Given the description of an element on the screen output the (x, y) to click on. 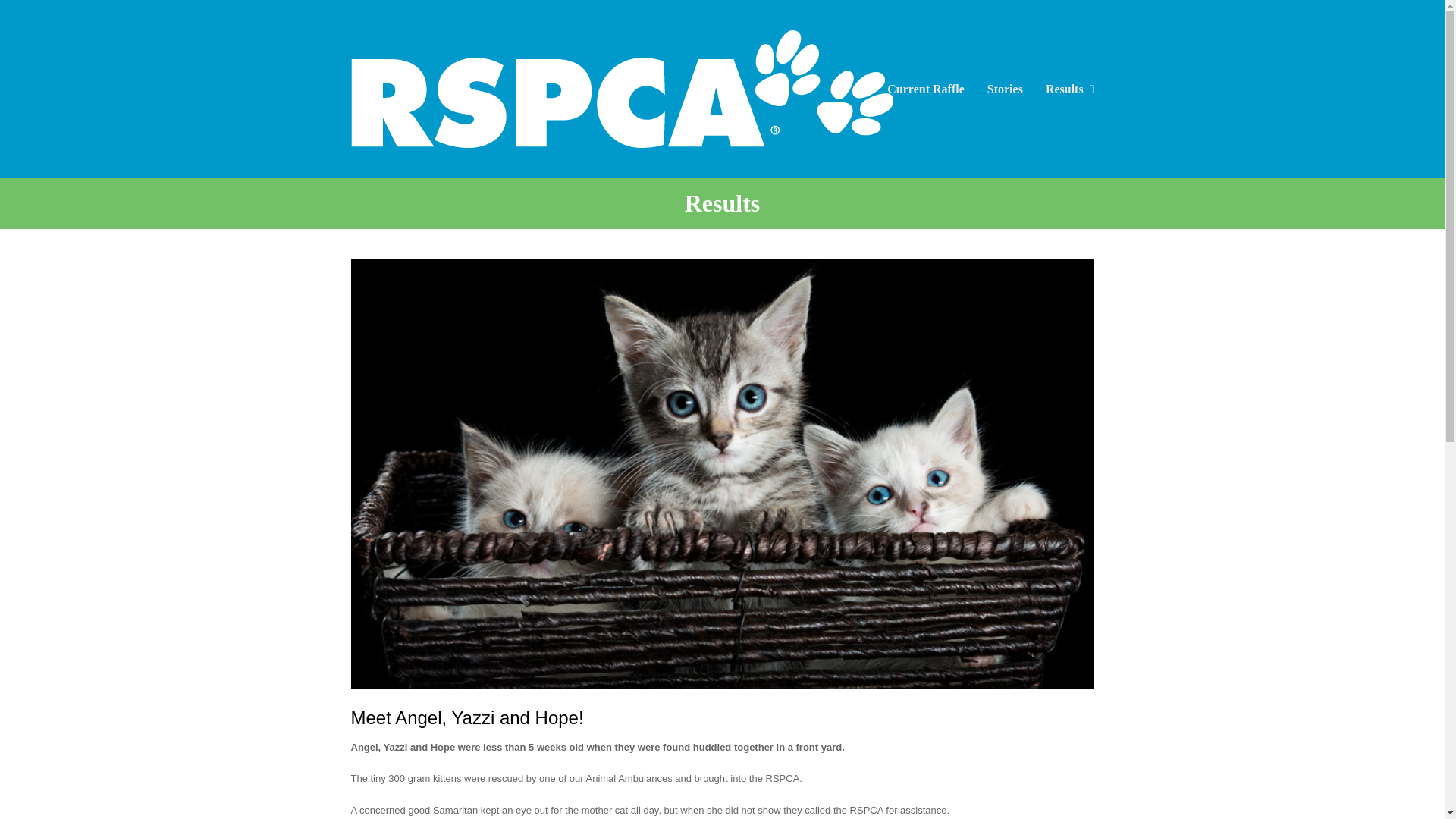
RSPCA (621, 88)
Results (1069, 88)
Stories (1004, 88)
Current Raffle (925, 88)
